Given the description of an element on the screen output the (x, y) to click on. 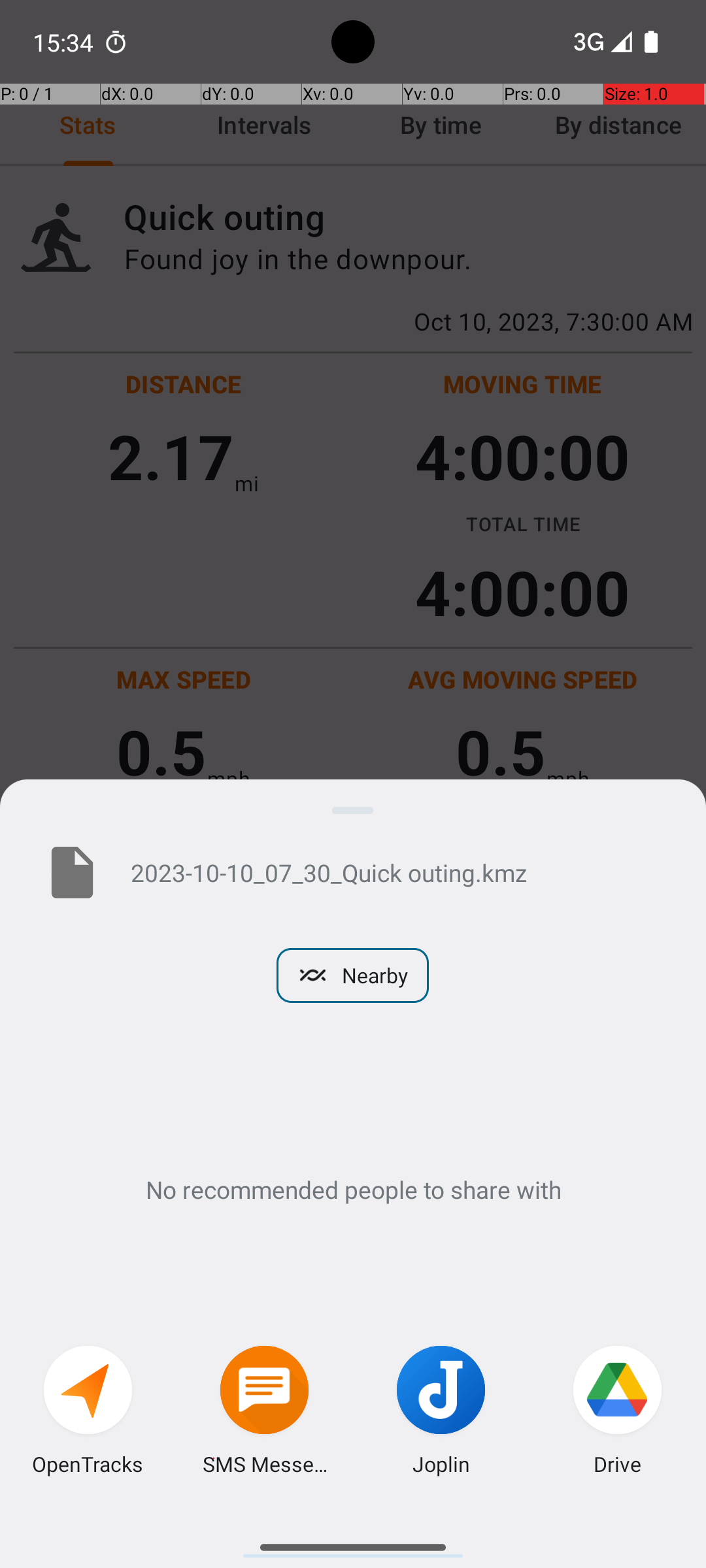
2023-10-10_07_30_Quick outing.kmz Element type: android.widget.TextView (397, 872)
